Given the description of an element on the screen output the (x, y) to click on. 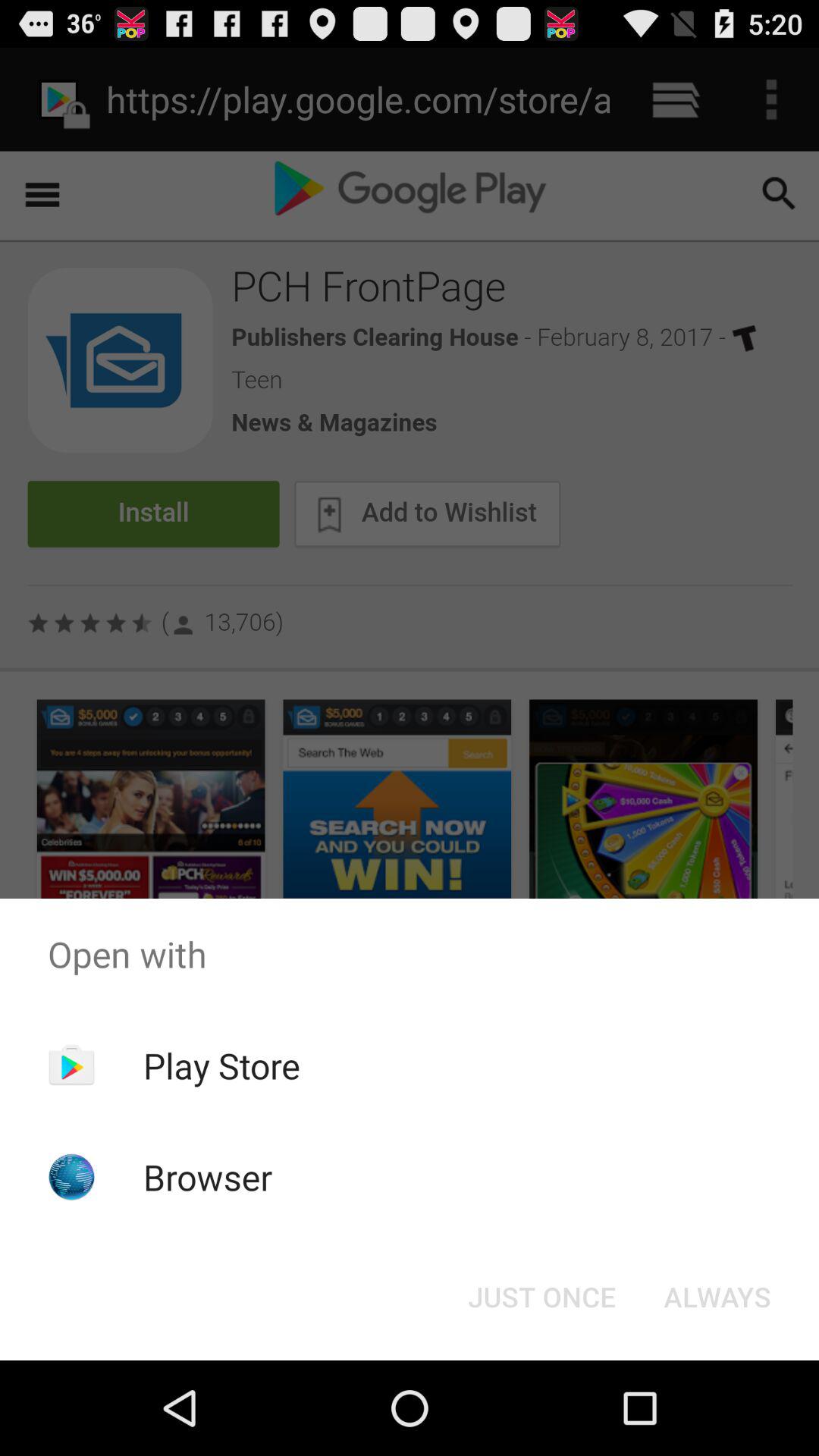
tap play store icon (221, 1065)
